Given the description of an element on the screen output the (x, y) to click on. 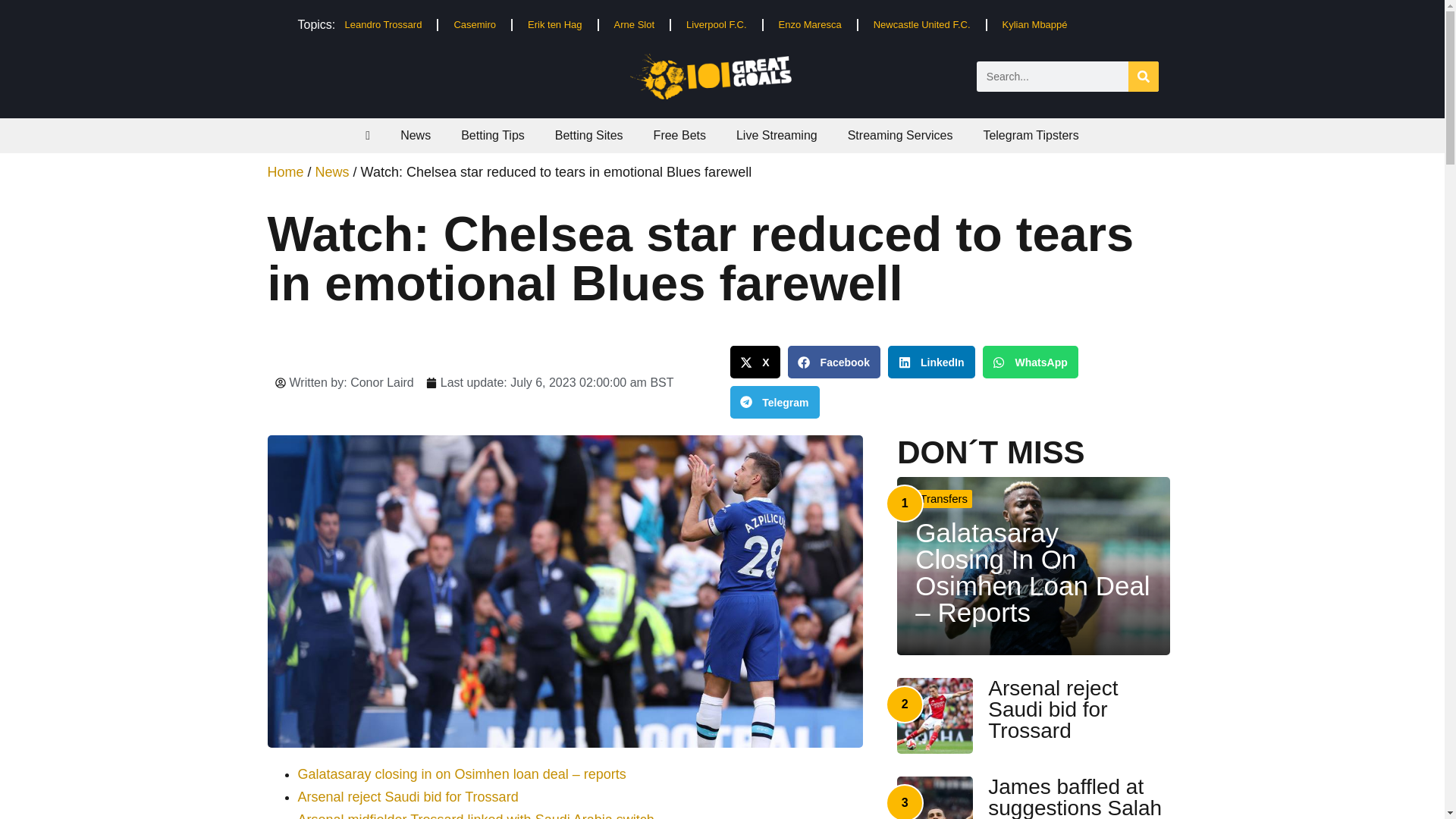
Enzo Maresca (809, 24)
Arne Slot (633, 24)
Leandro Trossard (382, 24)
Betting Tips (492, 135)
Newcastle United F.C. (922, 24)
Erik ten Hag (554, 24)
Casemiro (474, 24)
News (415, 135)
Liverpool F.C. (716, 24)
